Given the description of an element on the screen output the (x, y) to click on. 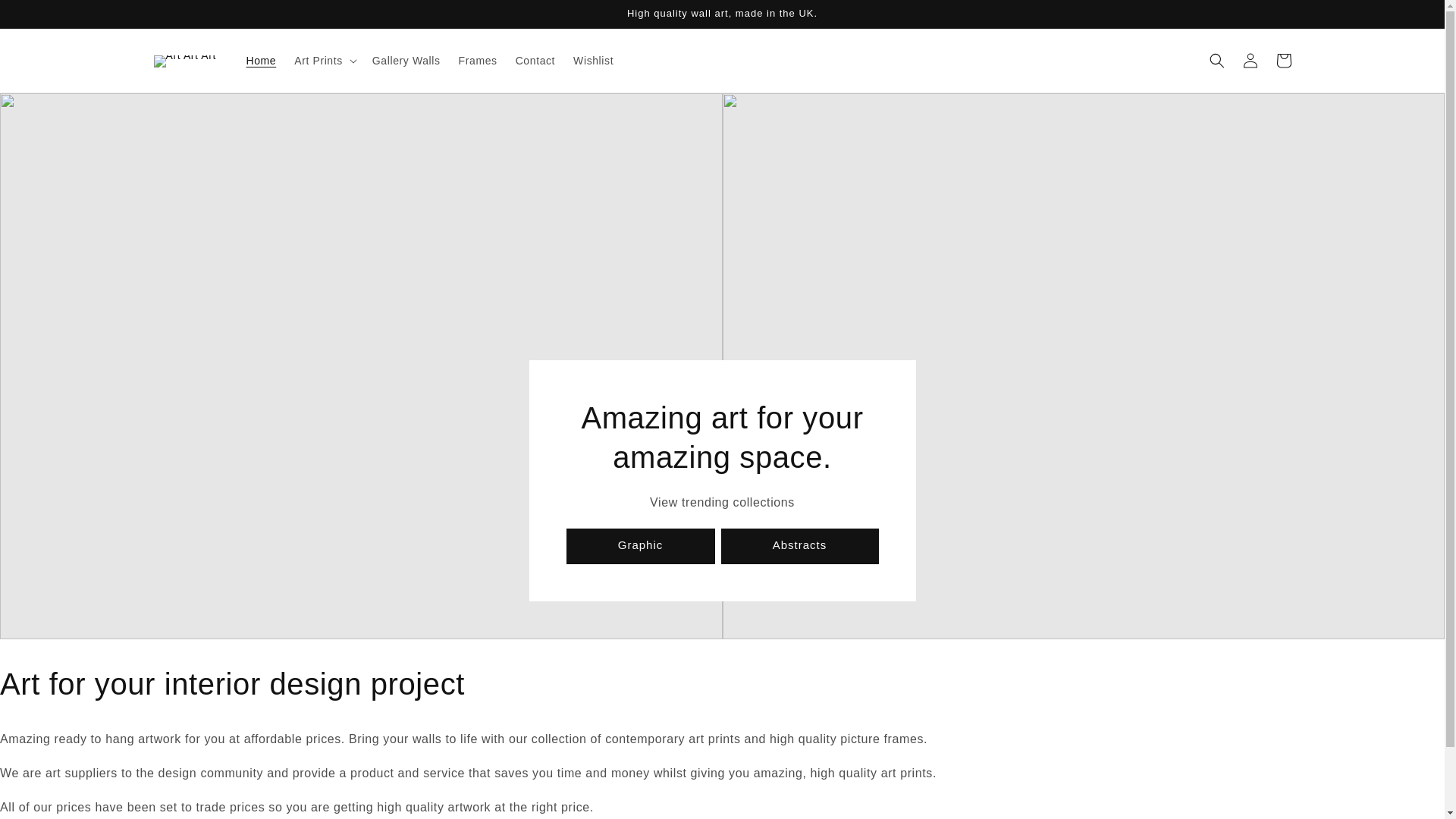
Skip to content (45, 16)
Gallery Walls (405, 60)
Frames (477, 60)
Home (261, 60)
